Given the description of an element on the screen output the (x, y) to click on. 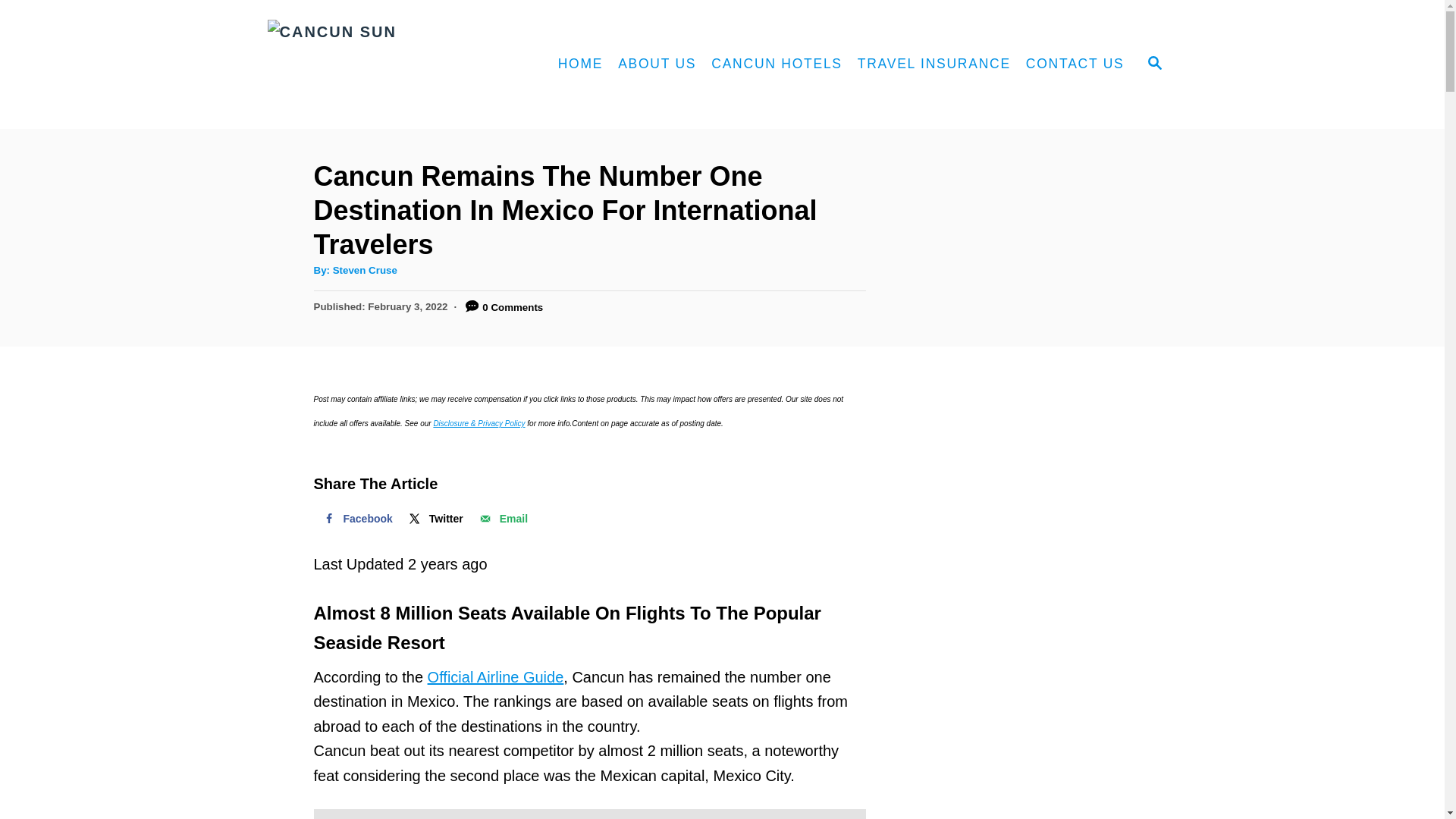
Official Airline Guide (496, 677)
Twitter (434, 518)
Cancun Sun (394, 64)
SEARCH (1153, 63)
Send over email (502, 518)
CONTACT US (1074, 64)
Share on Facebook (356, 518)
Email (502, 518)
HOME (580, 64)
CANCUN HOTELS (776, 64)
Facebook (356, 518)
TRAVEL INSURANCE (933, 64)
Steven Cruse (365, 270)
ABOUT US (656, 64)
Share on X (434, 518)
